Given the description of an element on the screen output the (x, y) to click on. 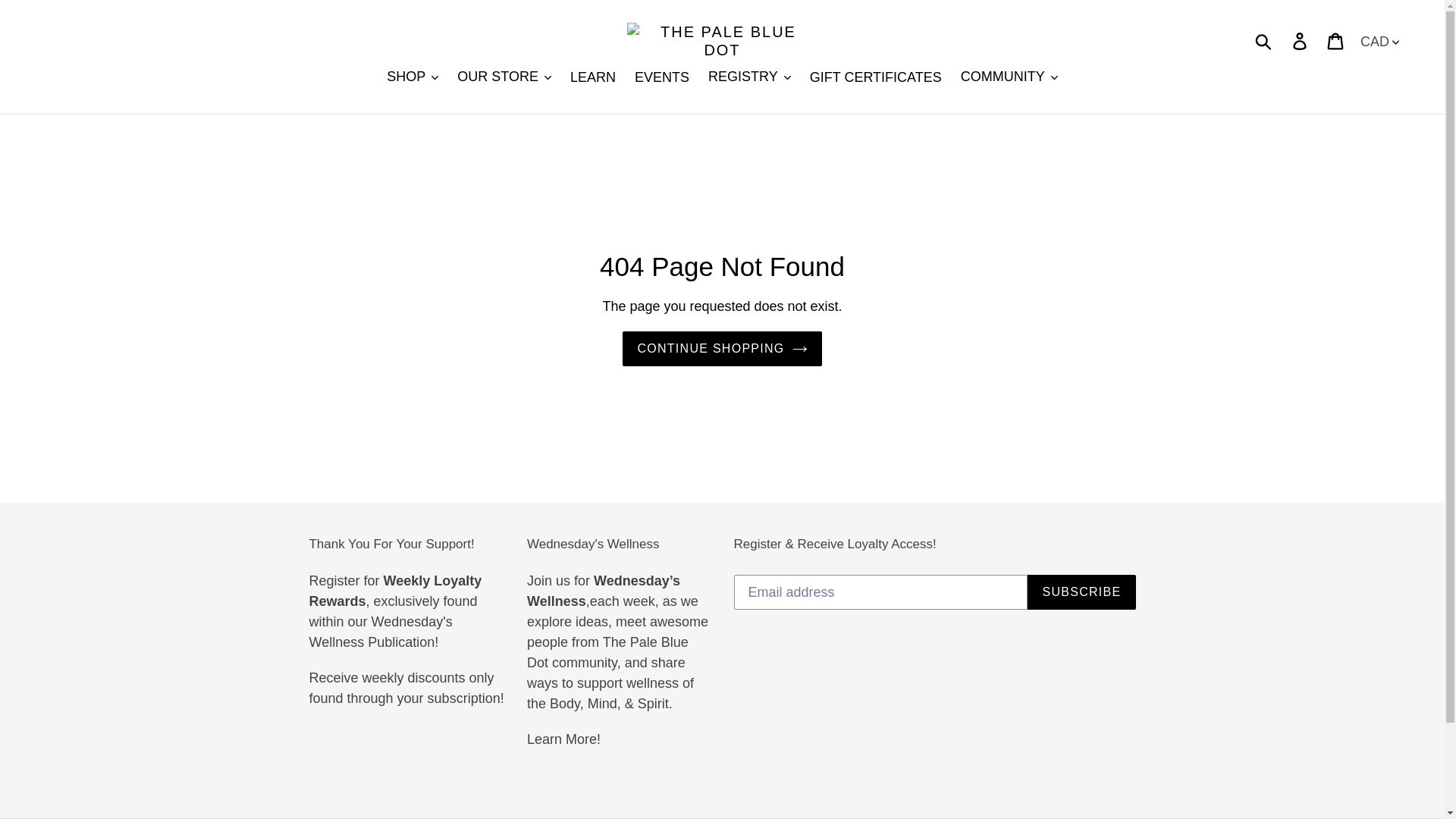
Wednesday's Wellness (563, 739)
Submit (1264, 40)
Cart (1336, 40)
Log in (1300, 40)
